Given the description of an element on the screen output the (x, y) to click on. 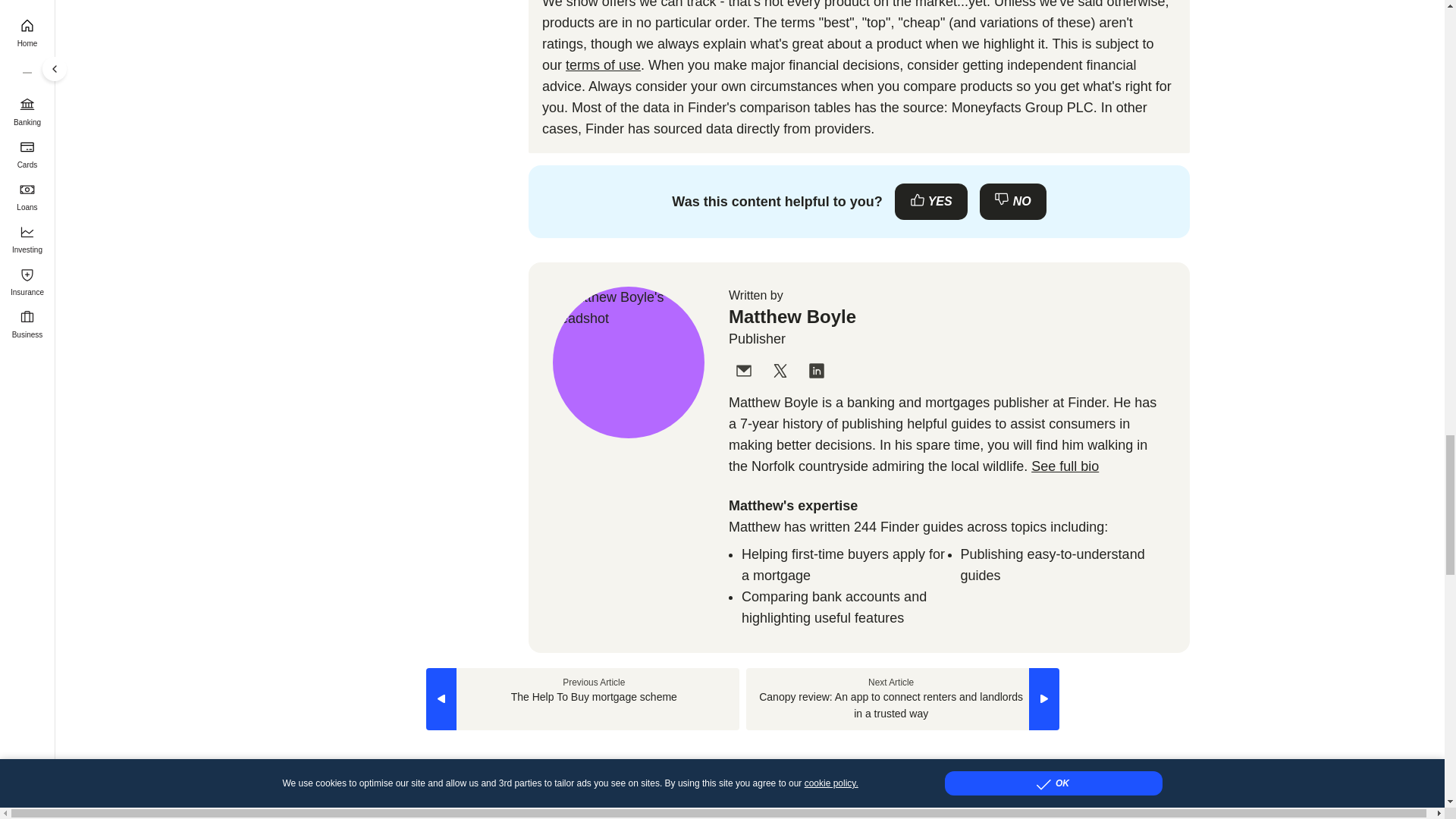
The Help To Buy mortgage scheme (582, 699)
